Given the description of an element on the screen output the (x, y) to click on. 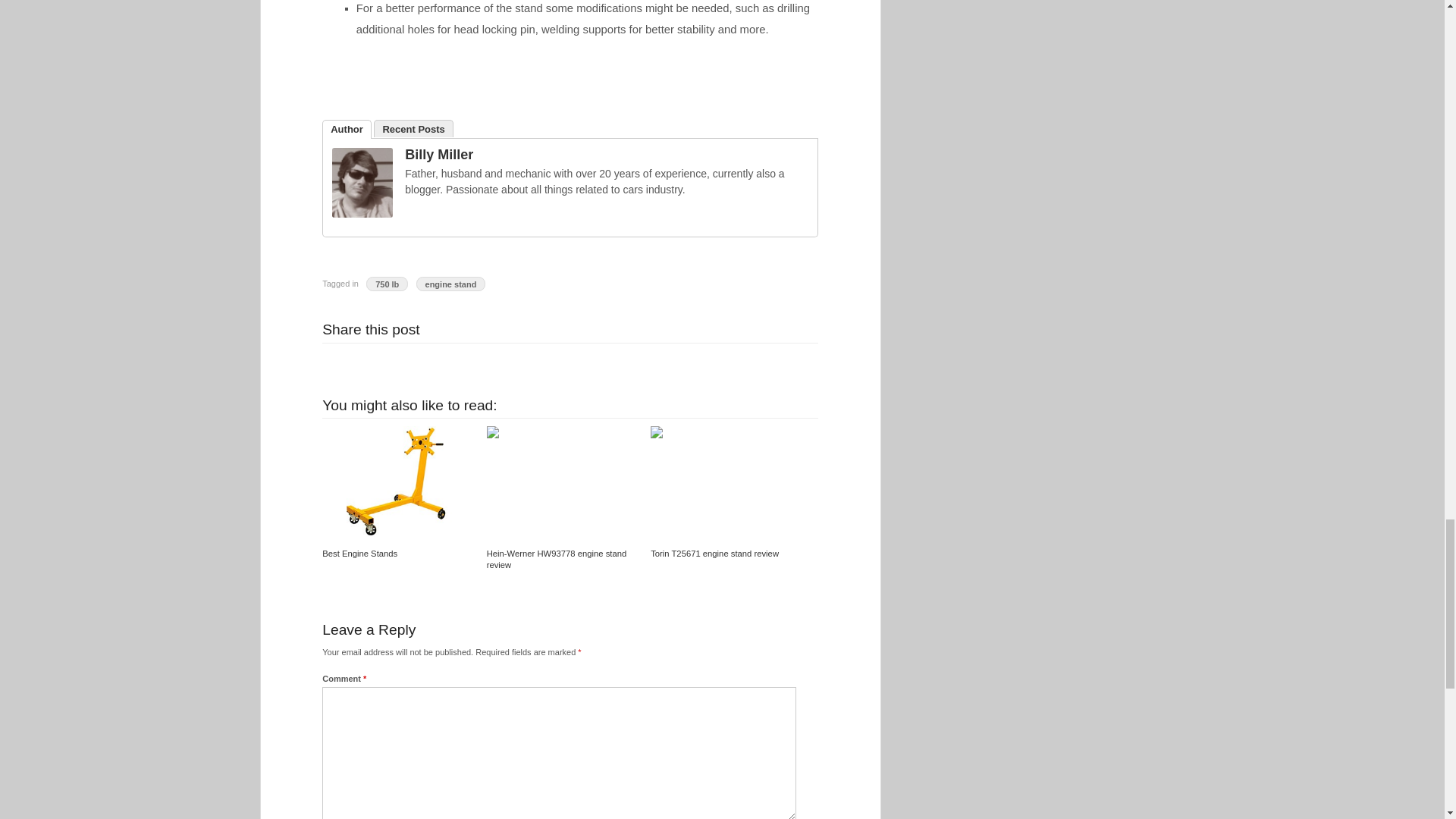
Billy Miller (362, 214)
Author (346, 128)
Torin T25671 engine stand review (726, 434)
Recent Posts (413, 128)
Best Engine Stands (397, 481)
Hein-Werner HW93778 engine stand review (562, 434)
Torin T25671 engine stand review (714, 552)
Hein-Werner HW93778 engine stand review (556, 559)
Best Engine Stands (359, 552)
